Given the description of an element on the screen output the (x, y) to click on. 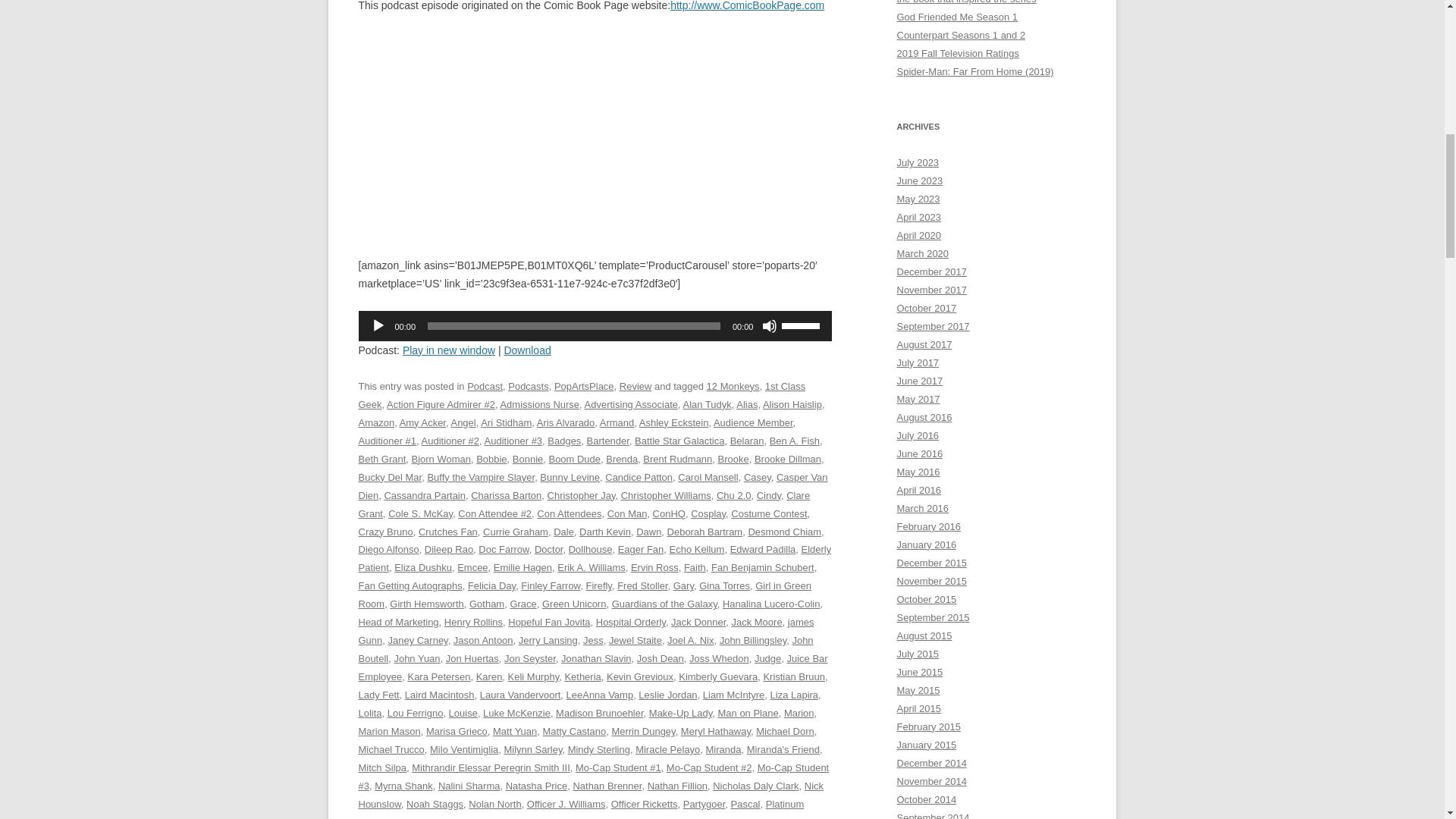
1st Class Geek (581, 395)
Alison Haislip (792, 404)
Play in new window (449, 349)
Angel (462, 422)
Aris Alvarado (566, 422)
Download (526, 349)
Alan Tudyk (707, 404)
12 Monkeys (733, 386)
Amy Acker (421, 422)
Play (377, 325)
